Given the description of an element on the screen output the (x, y) to click on. 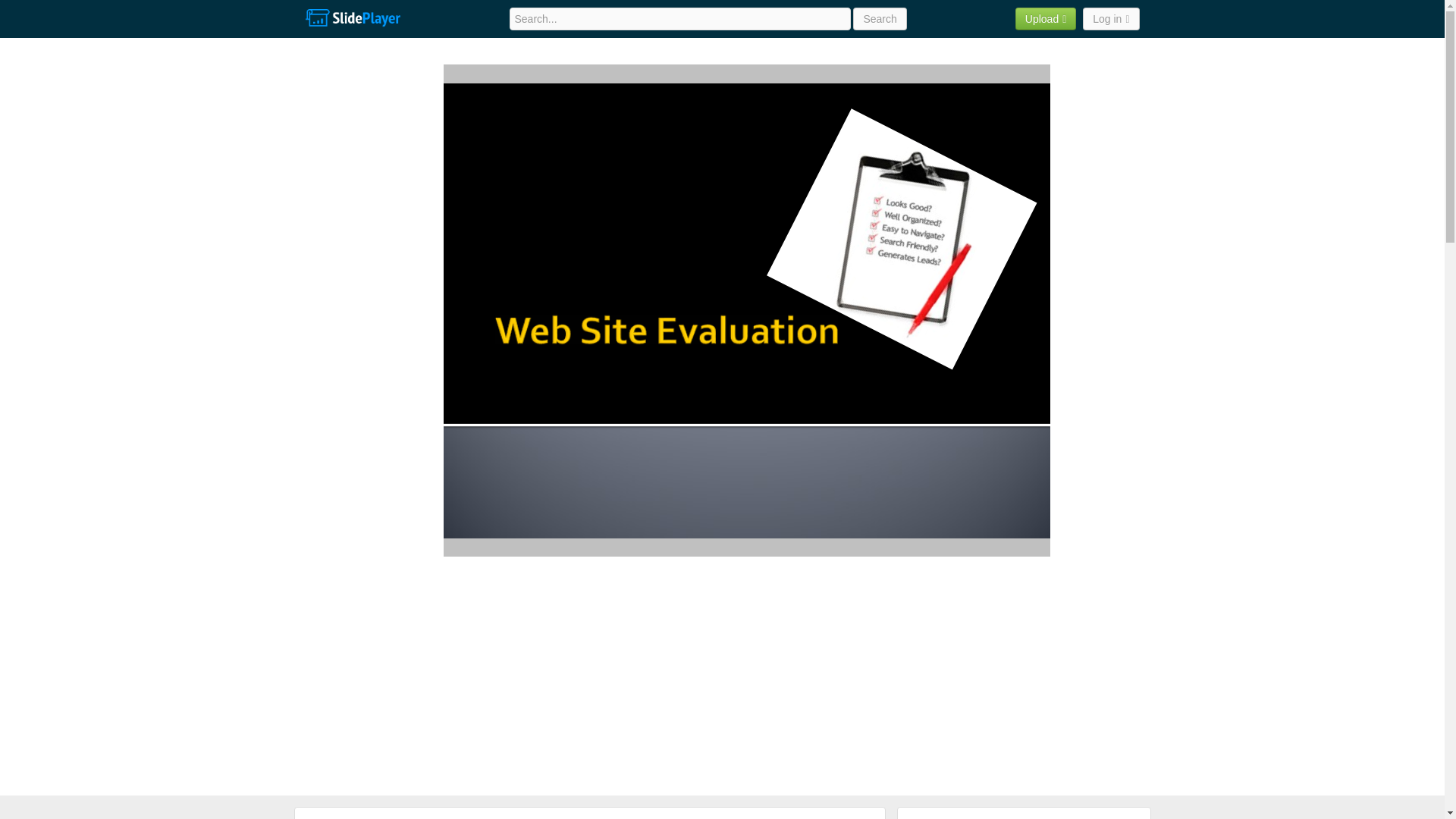
SlidePlayer (352, 18)
Log in (1110, 18)
Upload (1045, 18)
Search (879, 18)
